Given the description of an element on the screen output the (x, y) to click on. 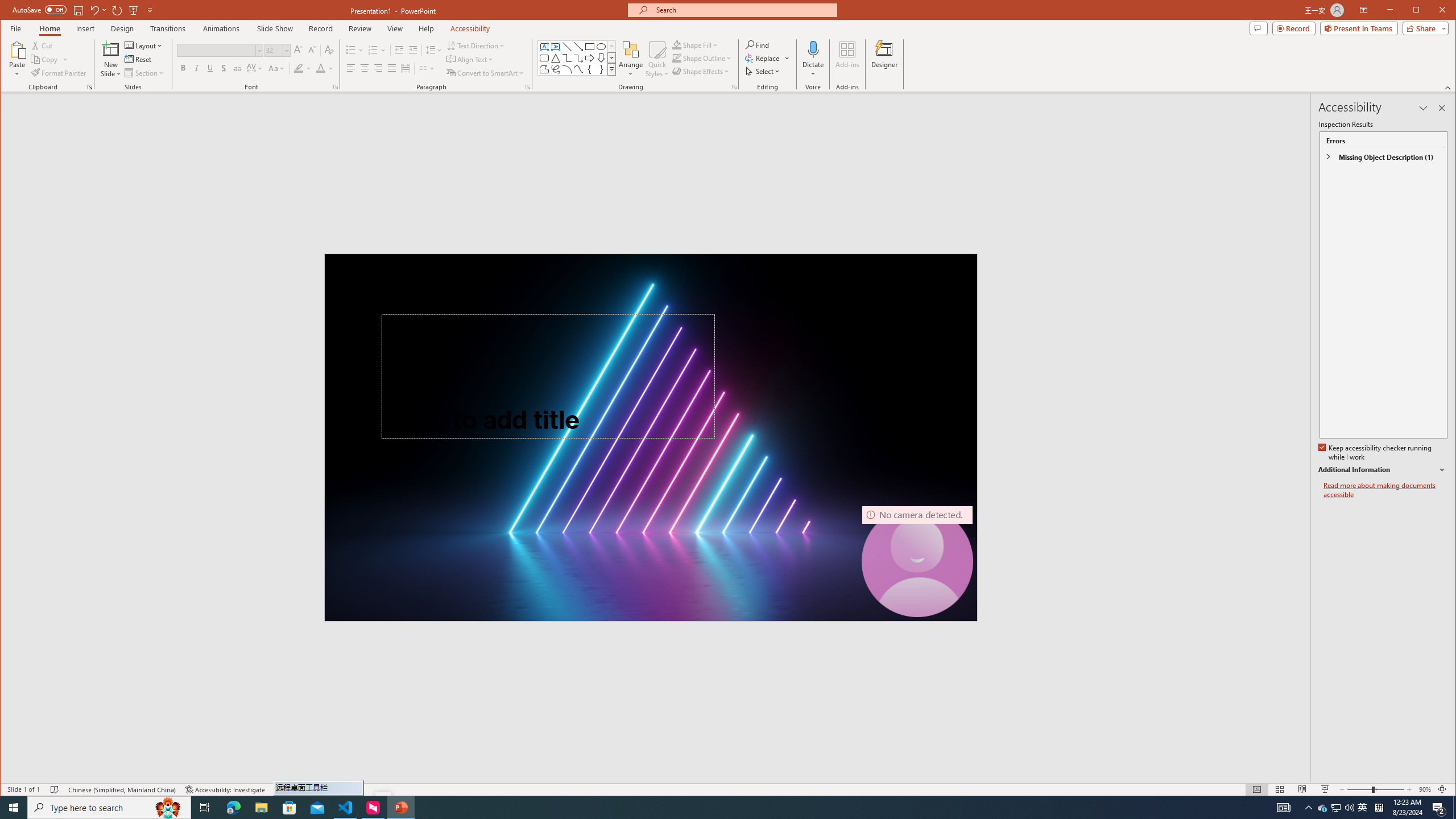
Running applications (700, 807)
Shape Fill Orange, Accent 2 (676, 44)
